Given the description of an element on the screen output the (x, y) to click on. 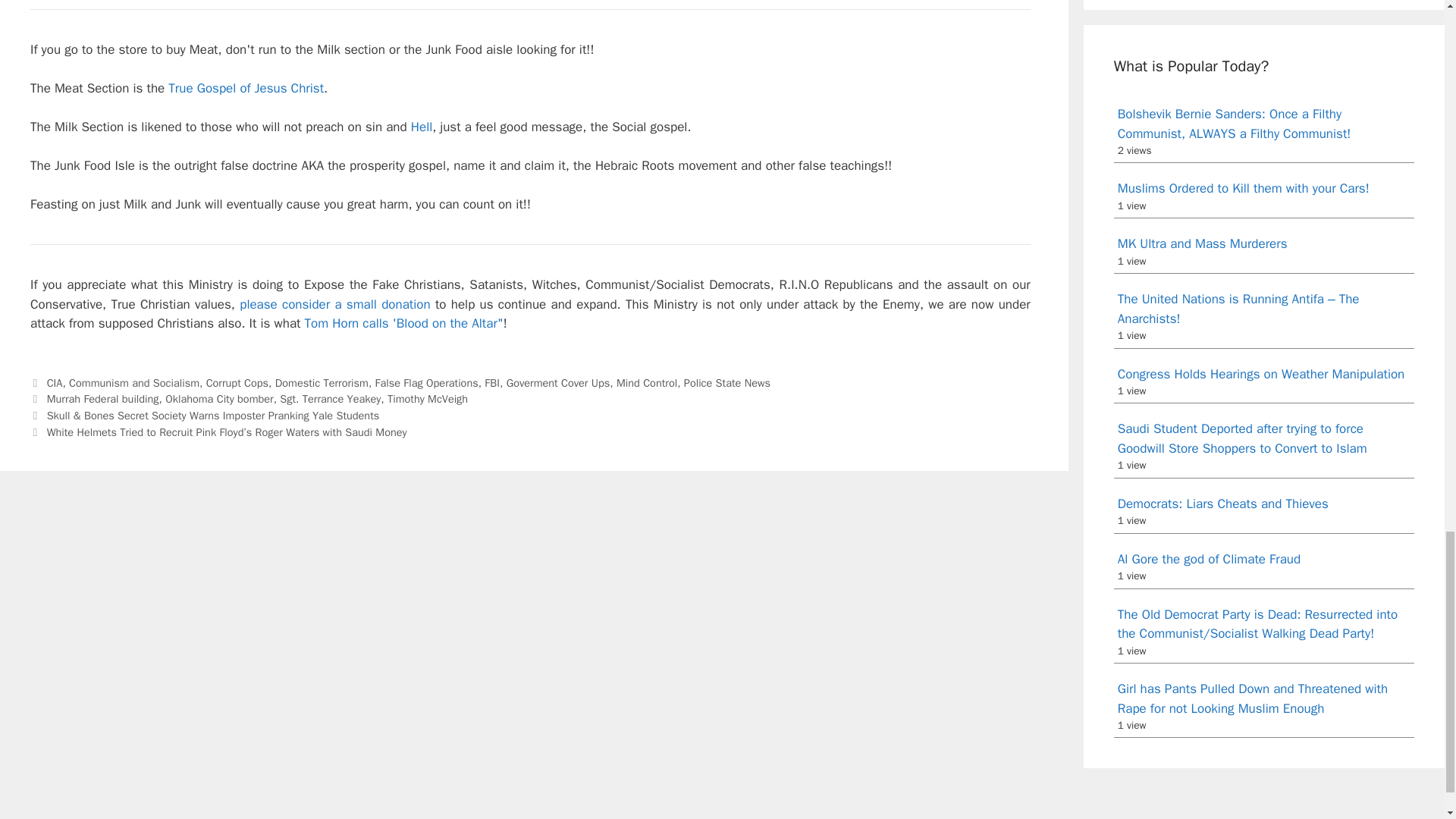
CIA (54, 382)
Domestic Terrorism (321, 382)
Tom Horn calls 'Blood on the Altar" (403, 323)
Communism and Socialism (133, 382)
Corrupt Cops (236, 382)
please consider a small donation (334, 304)
True Gospel of Jesus Christ (245, 88)
Hell (421, 126)
